Given the description of an element on the screen output the (x, y) to click on. 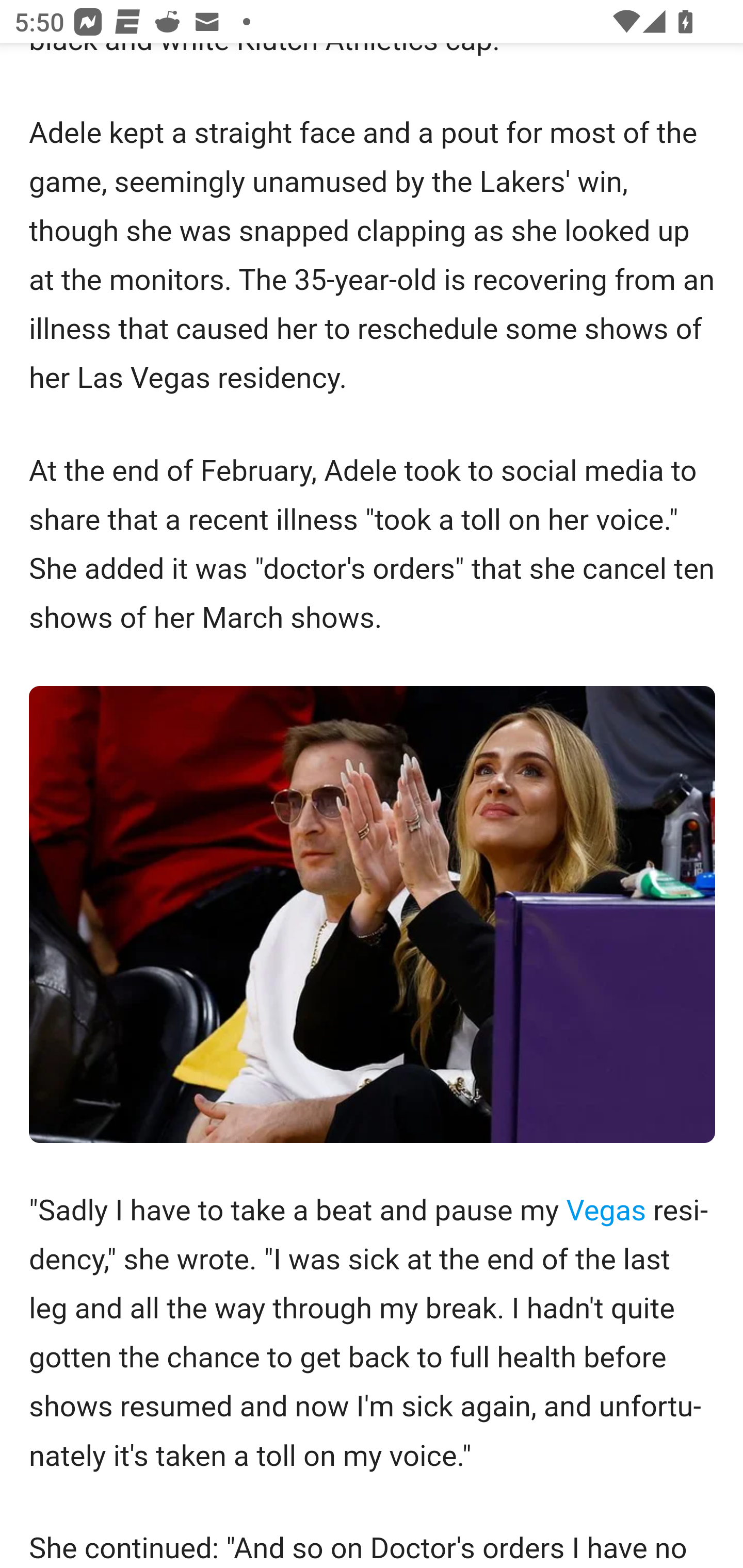
Adele recently rescheduled some of her residency (372, 915)
Vegas (605, 1211)
